Given the description of an element on the screen output the (x, y) to click on. 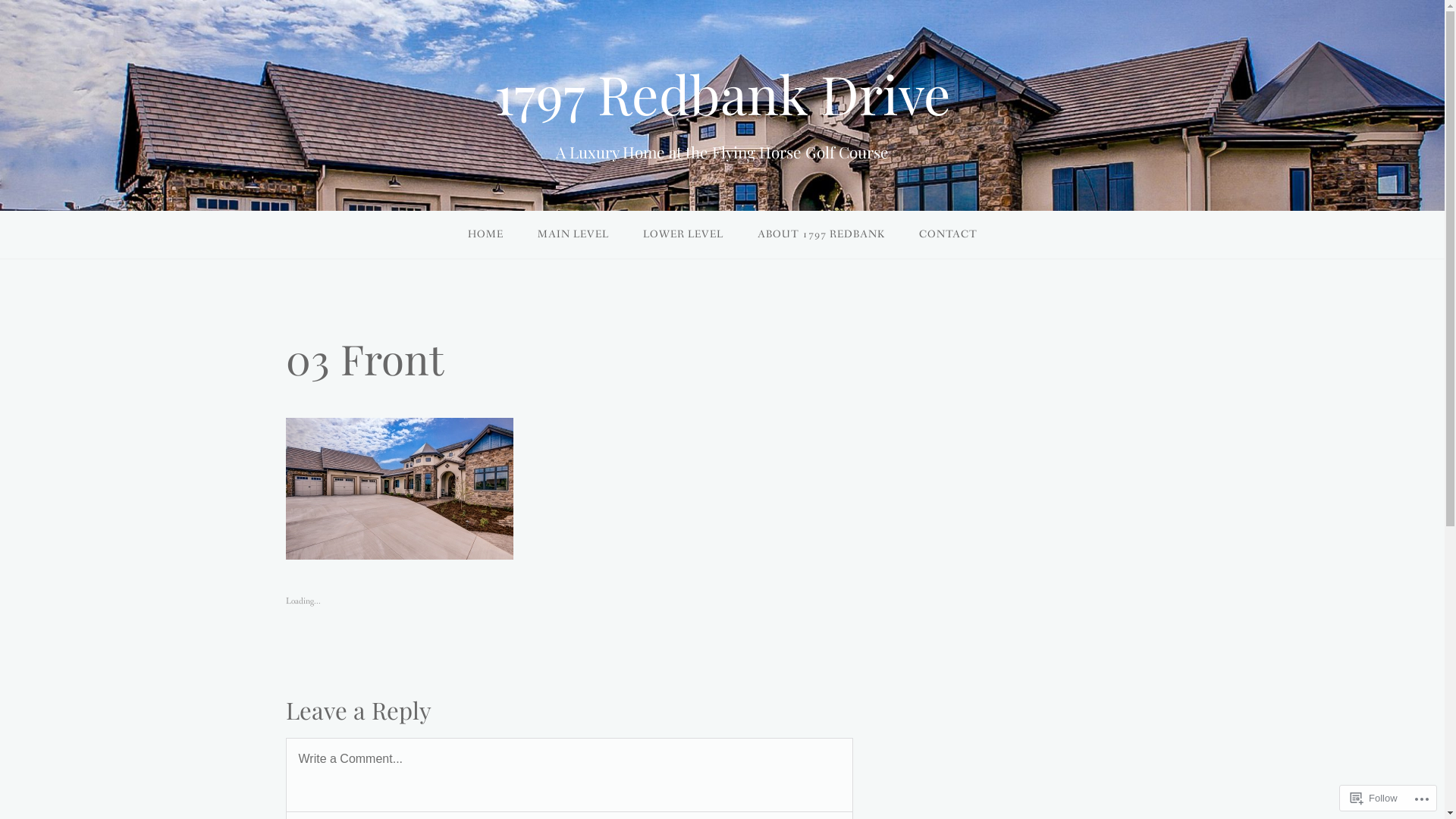
HOME Element type: text (485, 234)
ABOUT 1797 REDBANK Element type: text (820, 234)
MAIN LEVEL Element type: text (572, 234)
Follow Element type: text (1373, 797)
LOWER LEVEL Element type: text (682, 234)
CONTACT Element type: text (947, 234)
1797 Redbank Drive Element type: text (722, 92)
